Given the description of an element on the screen output the (x, y) to click on. 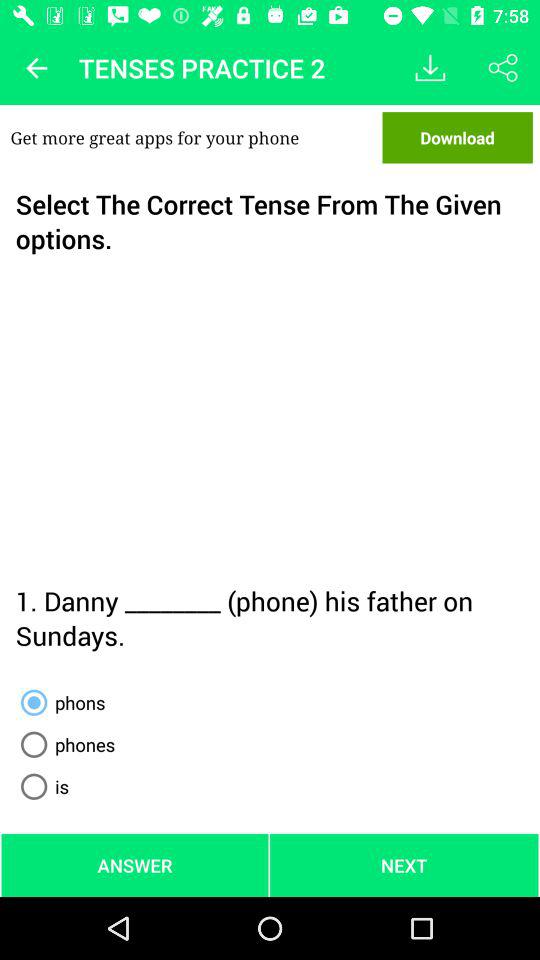
select the item below the phones (41, 786)
